Given the description of an element on the screen output the (x, y) to click on. 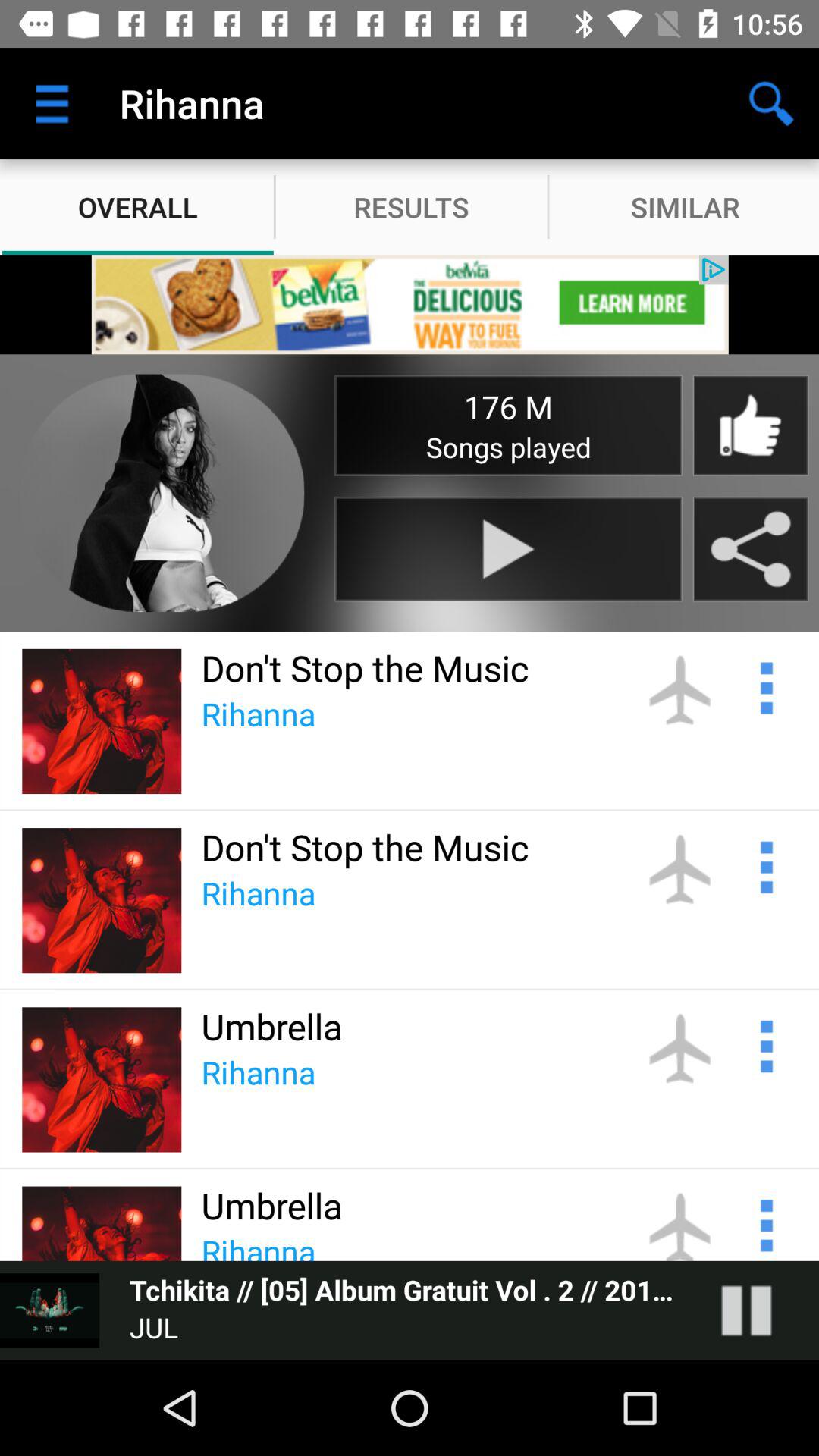
pause song (761, 1310)
